Given the description of an element on the screen output the (x, y) to click on. 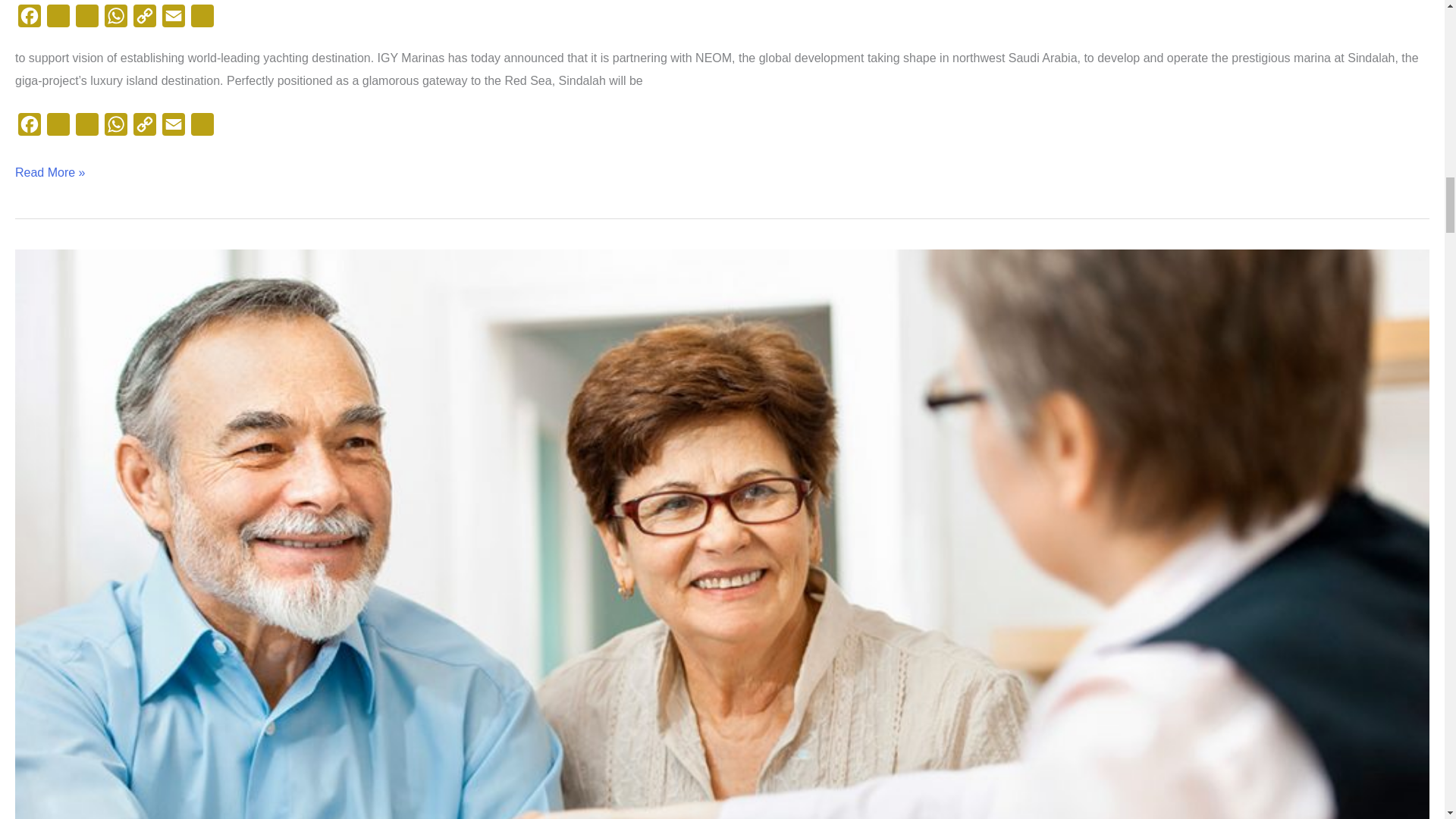
LinkedIn (86, 19)
Twitter (57, 19)
Facebook (28, 19)
